Given the description of an element on the screen output the (x, y) to click on. 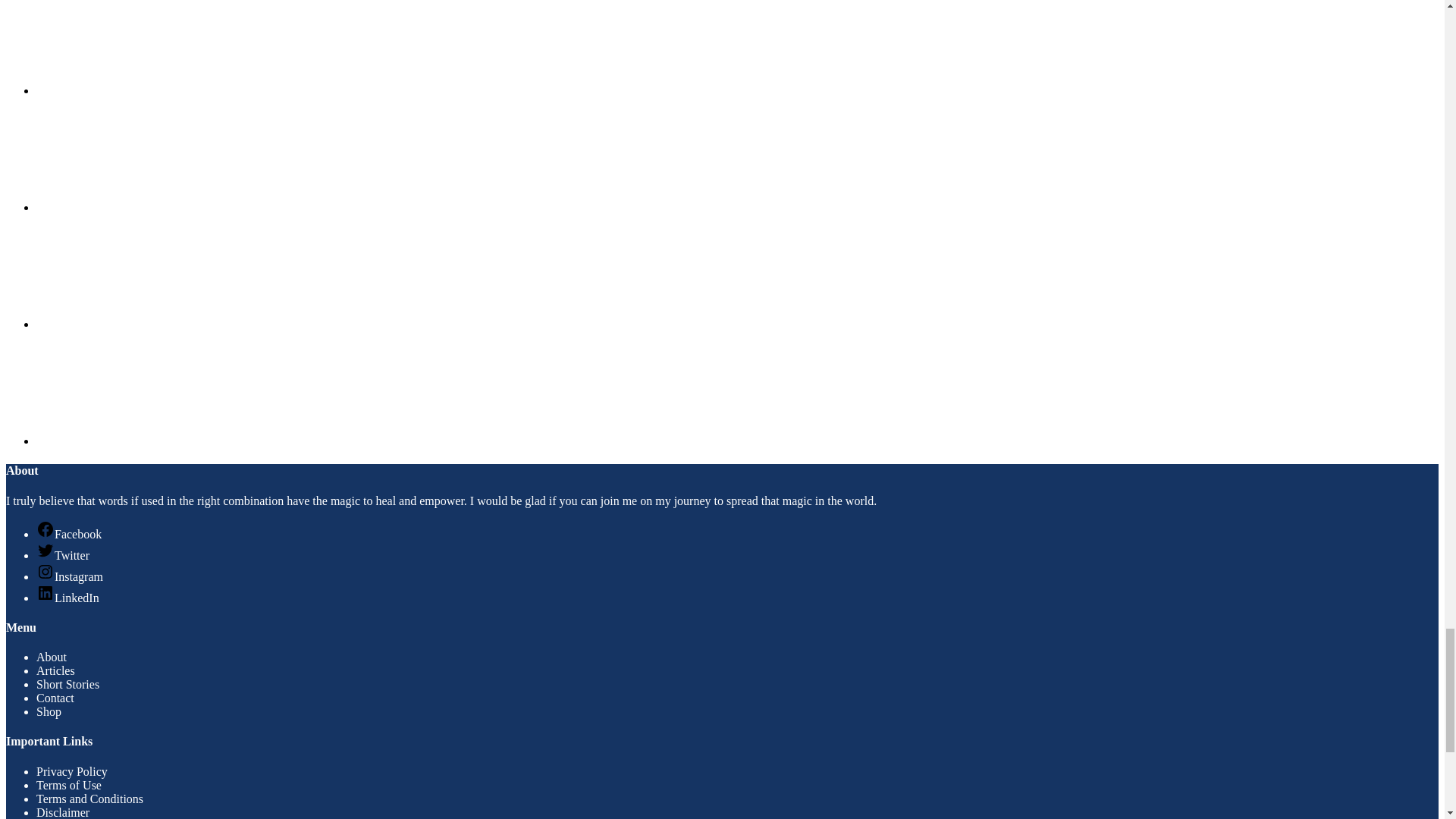
Instagram (149, 154)
Twitter (149, 388)
LinkedIn (149, 271)
Facebook (149, 47)
